Given the description of an element on the screen output the (x, y) to click on. 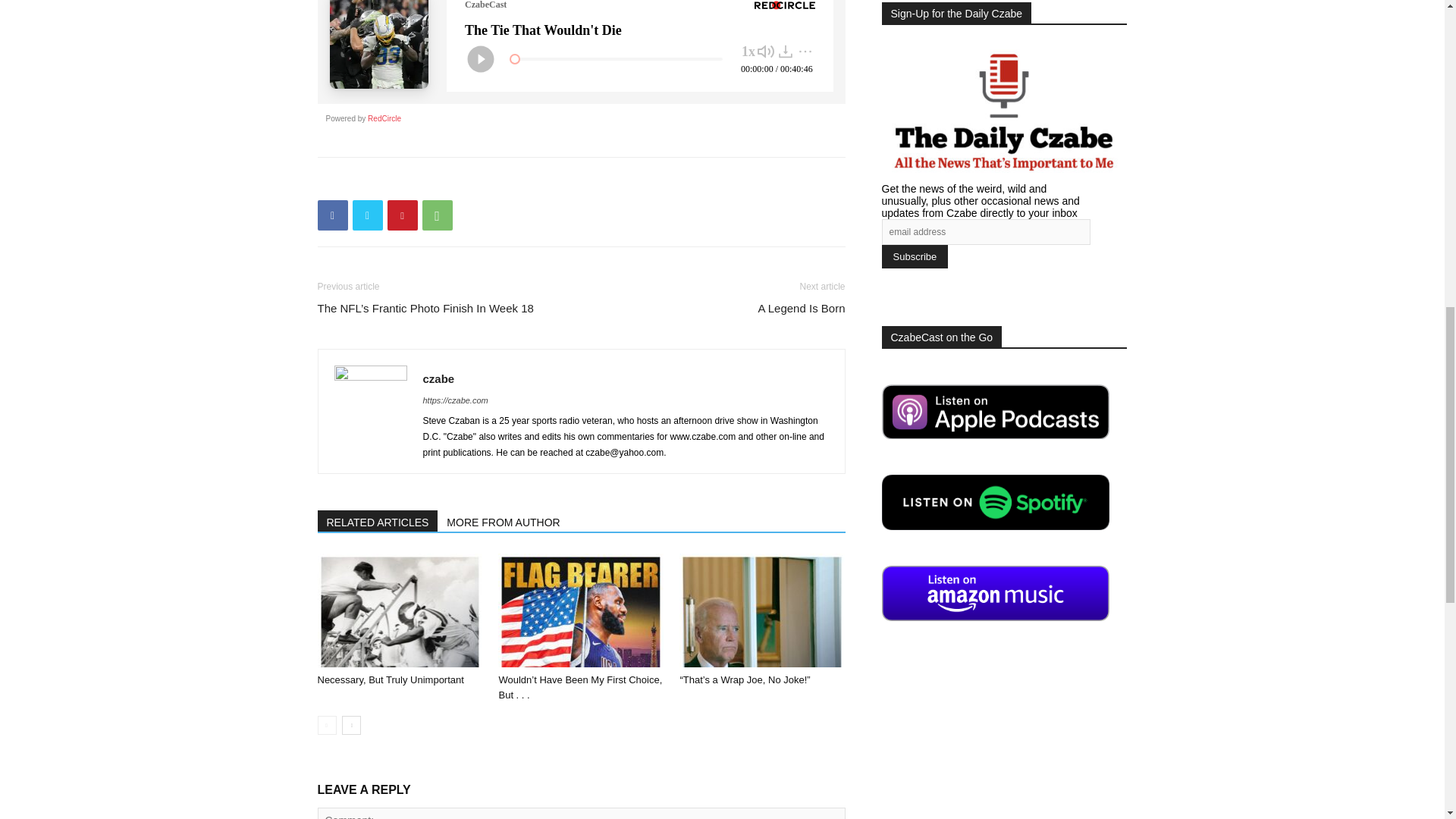
bottomFacebookLike (430, 181)
RedCircle (384, 118)
Twitter (366, 214)
Facebook (332, 214)
Subscribe (913, 256)
WhatsApp (436, 214)
Pinterest (401, 214)
Necessary, But Truly Unimportant (399, 610)
